Given the description of an element on the screen output the (x, y) to click on. 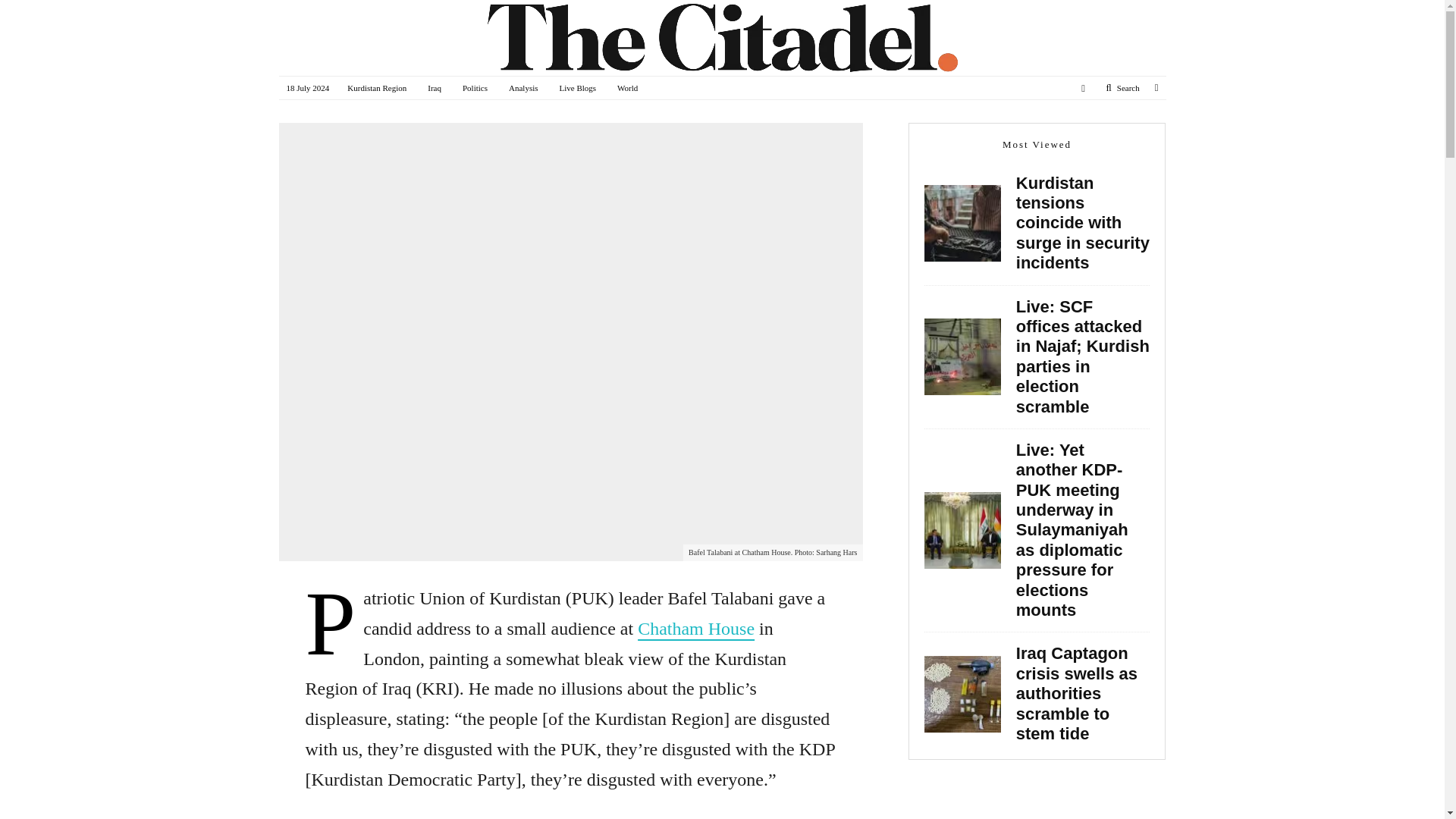
Kurdistan Region (376, 87)
Analysis (522, 87)
Politics (474, 87)
Live Blogs (577, 87)
Iraq (433, 87)
